Given the description of an element on the screen output the (x, y) to click on. 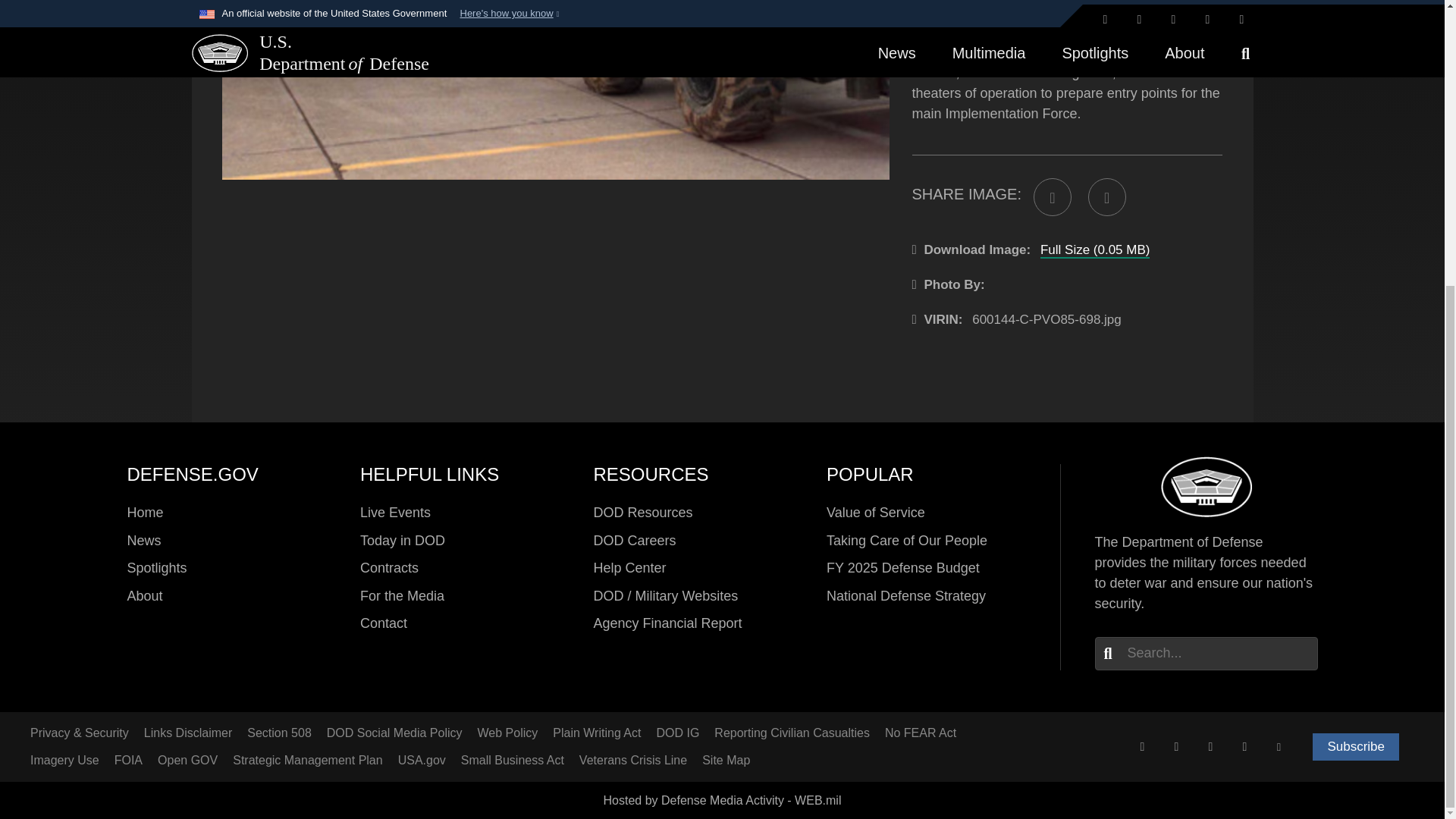
LinkedIn (1244, 746)
X (1142, 746)
YouTube (1278, 746)
Facebook (1176, 746)
Instagram (1209, 746)
